Given the description of an element on the screen output the (x, y) to click on. 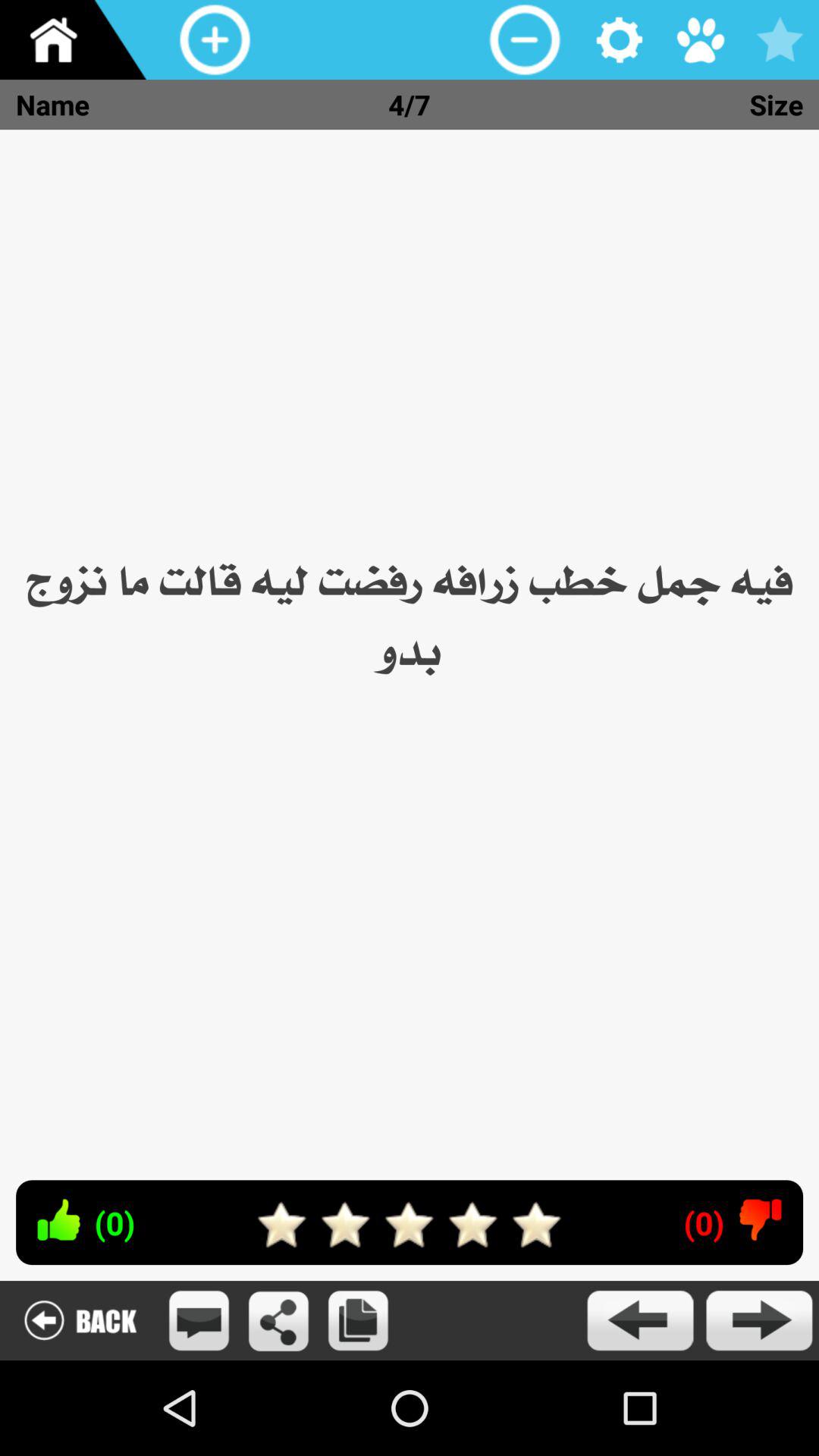
like the article (58, 1219)
